Given the description of an element on the screen output the (x, y) to click on. 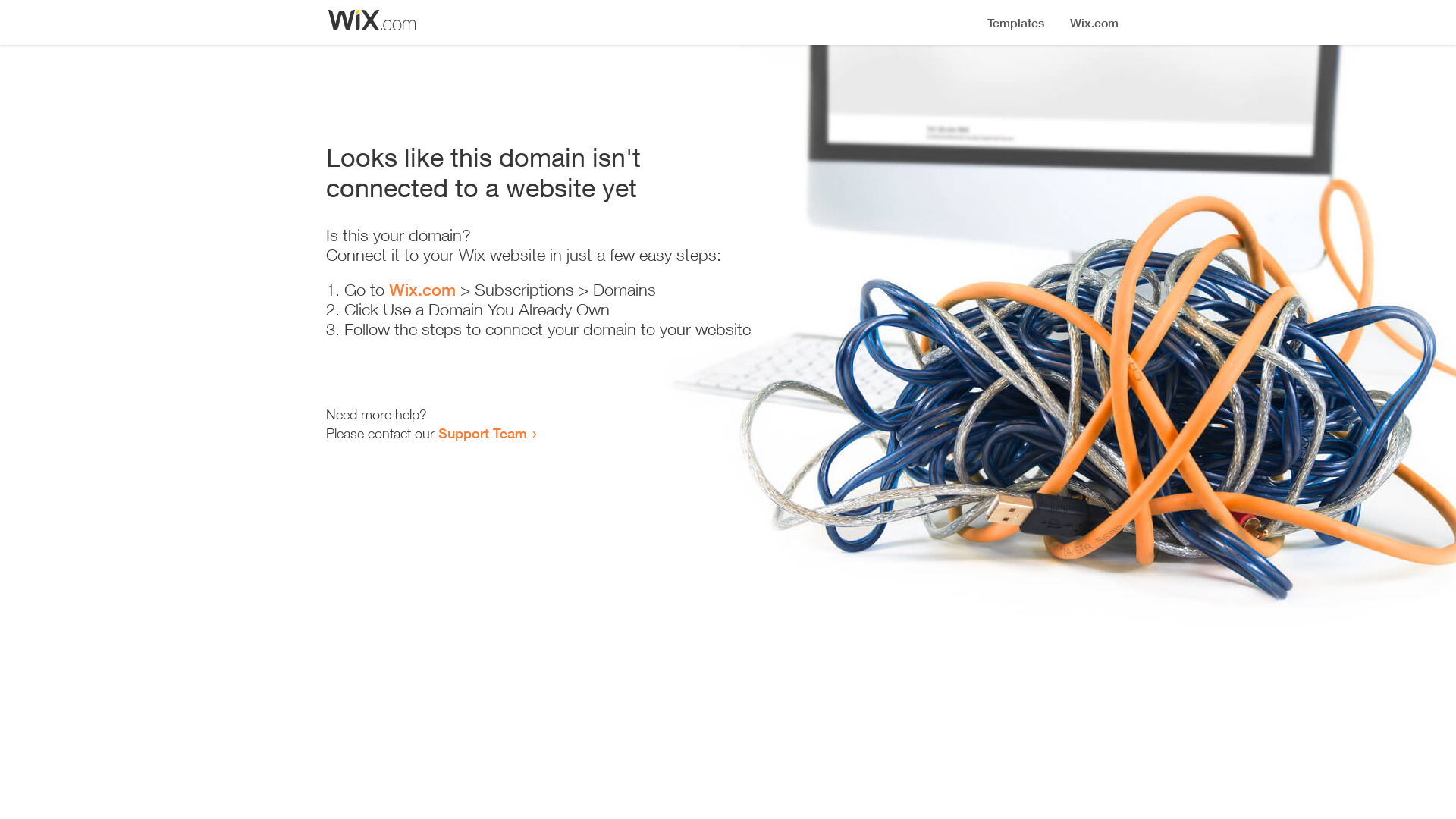
Wix.com Element type: text (422, 289)
Support Team Element type: text (482, 432)
